Given the description of an element on the screen output the (x, y) to click on. 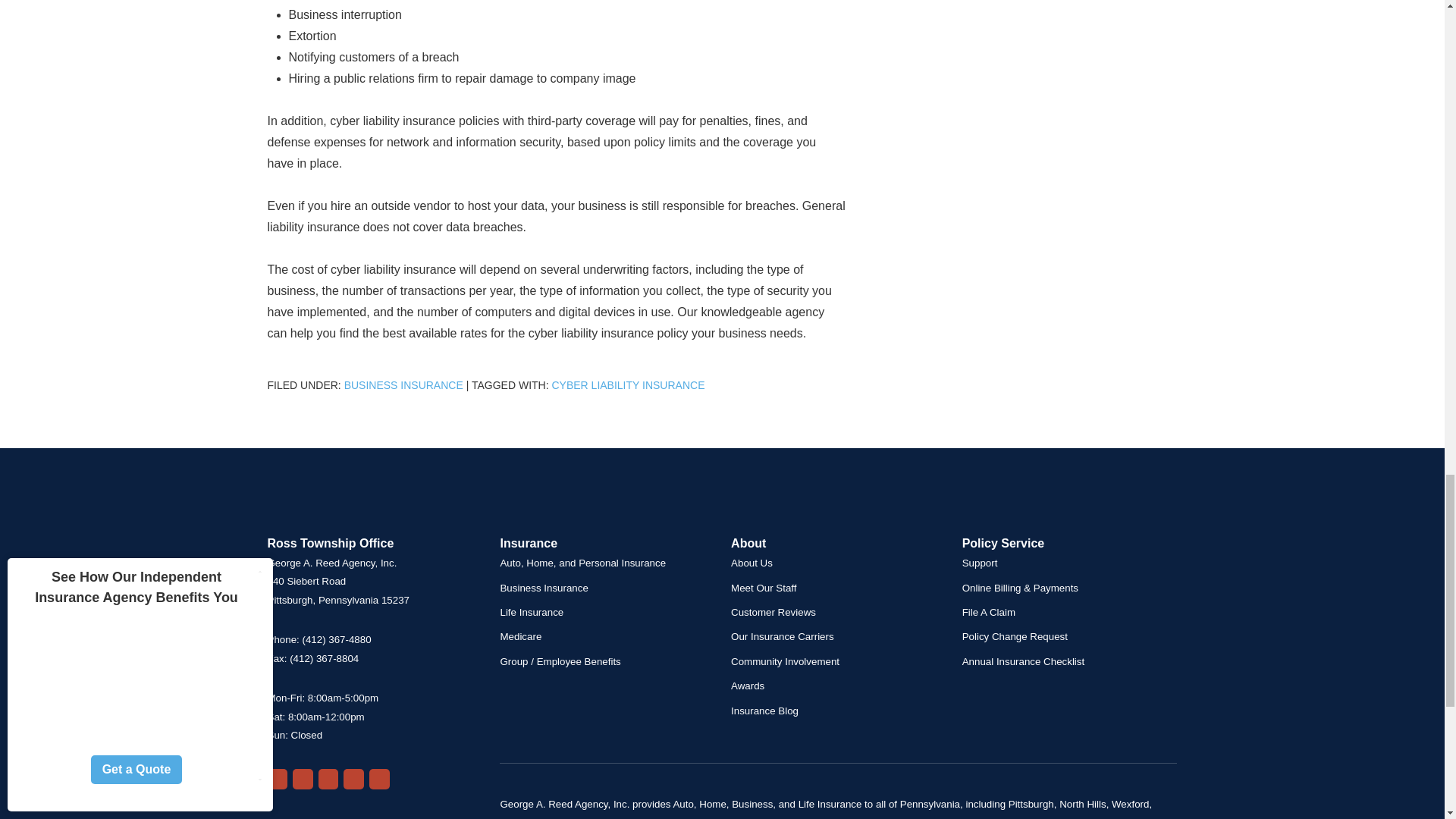
Business Insurance (403, 385)
Cyber Liability Insurance (627, 385)
LinkedIn (379, 779)
X (353, 779)
Facebook (328, 779)
Google Maps (276, 779)
Yelp (302, 779)
